Given the description of an element on the screen output the (x, y) to click on. 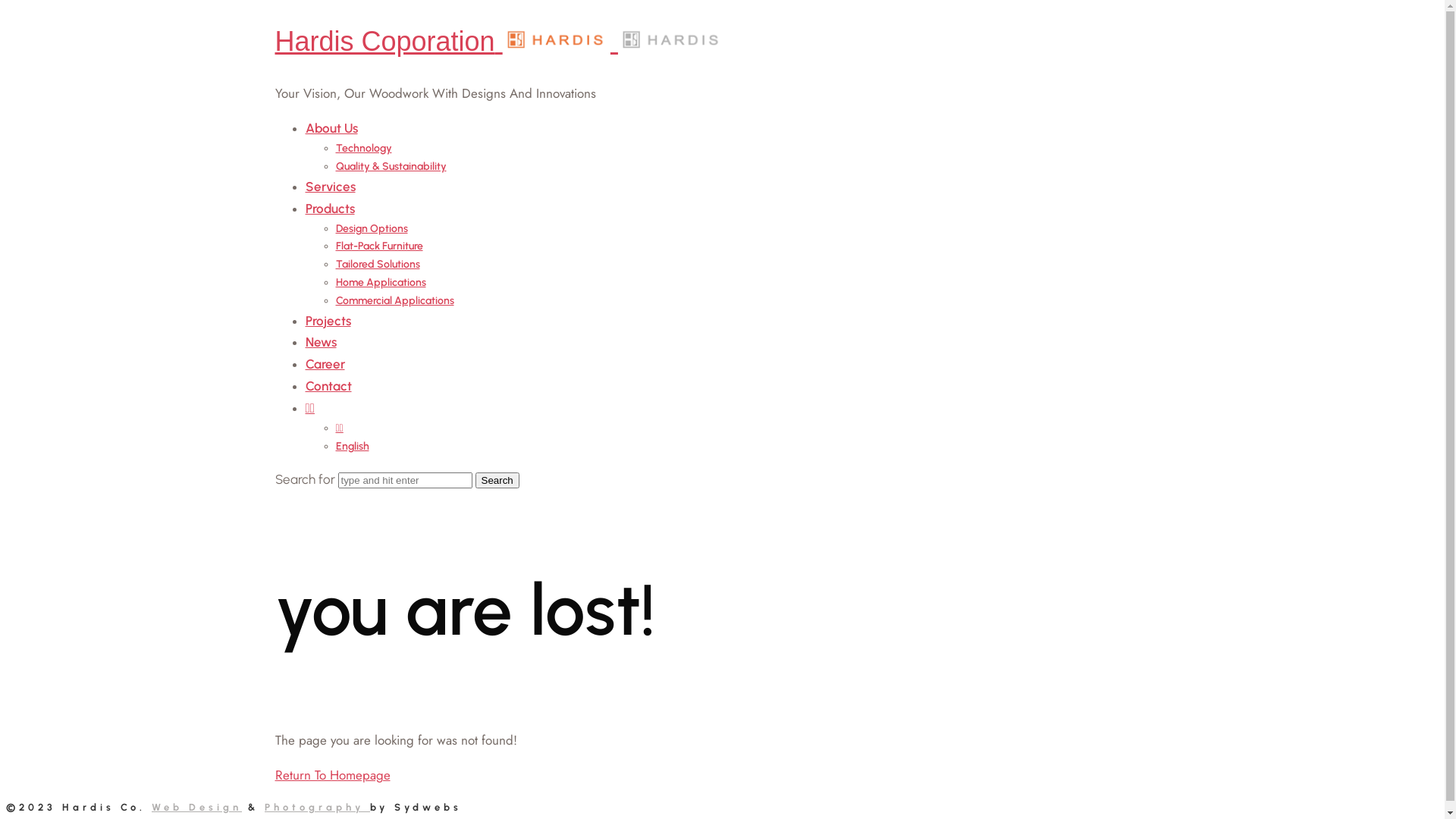
Web Design Element type: text (196, 806)
Flat-Pack Furniture Element type: text (378, 245)
News Element type: text (319, 341)
Technology Element type: text (363, 147)
Design Options Element type: text (371, 228)
Search Element type: text (496, 480)
Photography Element type: text (317, 806)
Home Applications Element type: text (380, 282)
Contact Element type: text (327, 385)
Commercial Applications Element type: text (394, 300)
Services Element type: text (329, 186)
Tailored Solutions Element type: text (377, 263)
Career Element type: text (324, 363)
Hardis Coporation Element type: text (499, 40)
Return To Homepage Element type: text (331, 774)
English Element type: text (351, 446)
Quality & Sustainability Element type: text (390, 166)
Products Element type: text (329, 208)
About Us Element type: text (330, 127)
Projects Element type: text (327, 320)
